Given the description of an element on the screen output the (x, y) to click on. 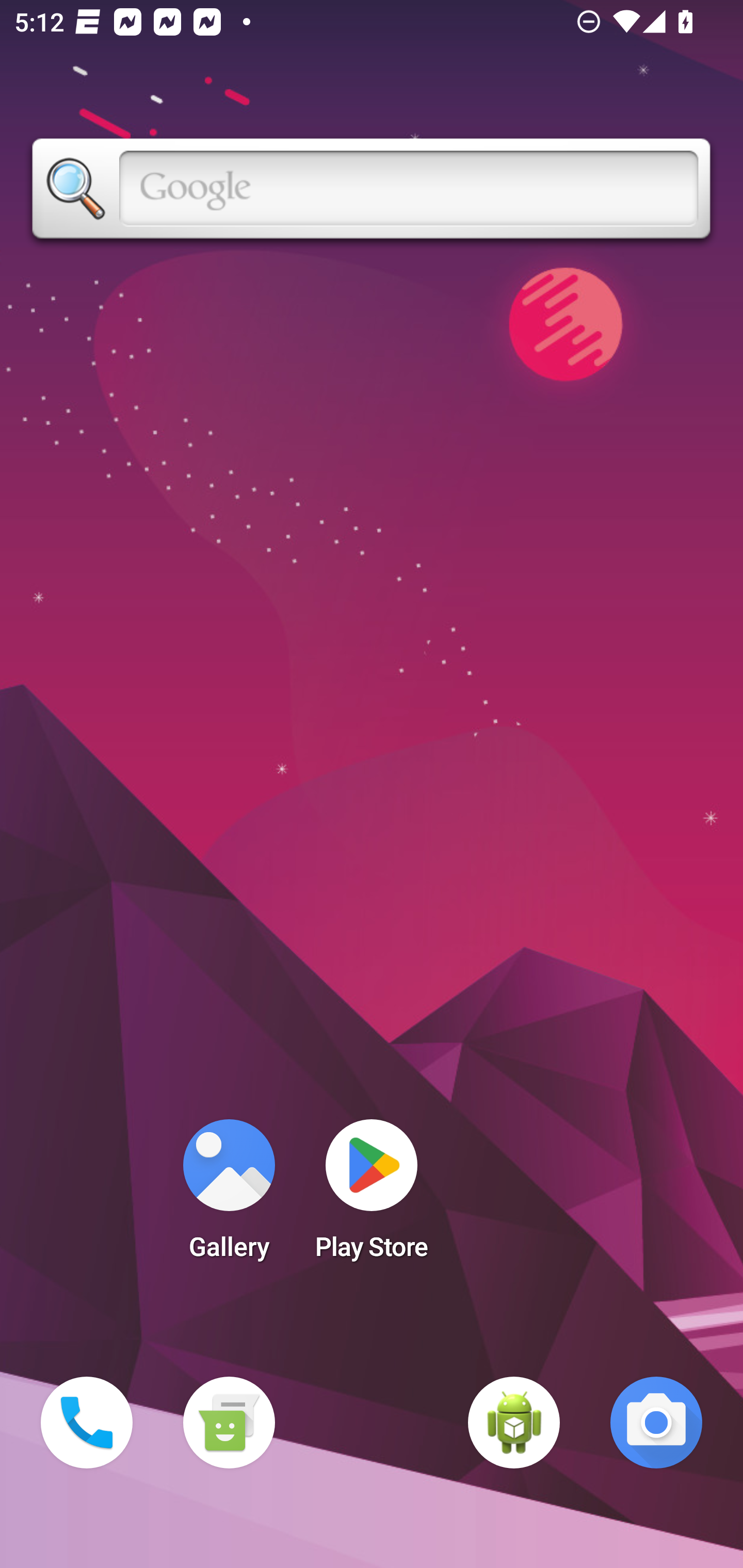
Gallery (228, 1195)
Play Store (371, 1195)
Phone (86, 1422)
Messaging (228, 1422)
WebView Browser Tester (513, 1422)
Camera (656, 1422)
